Given the description of an element on the screen output the (x, y) to click on. 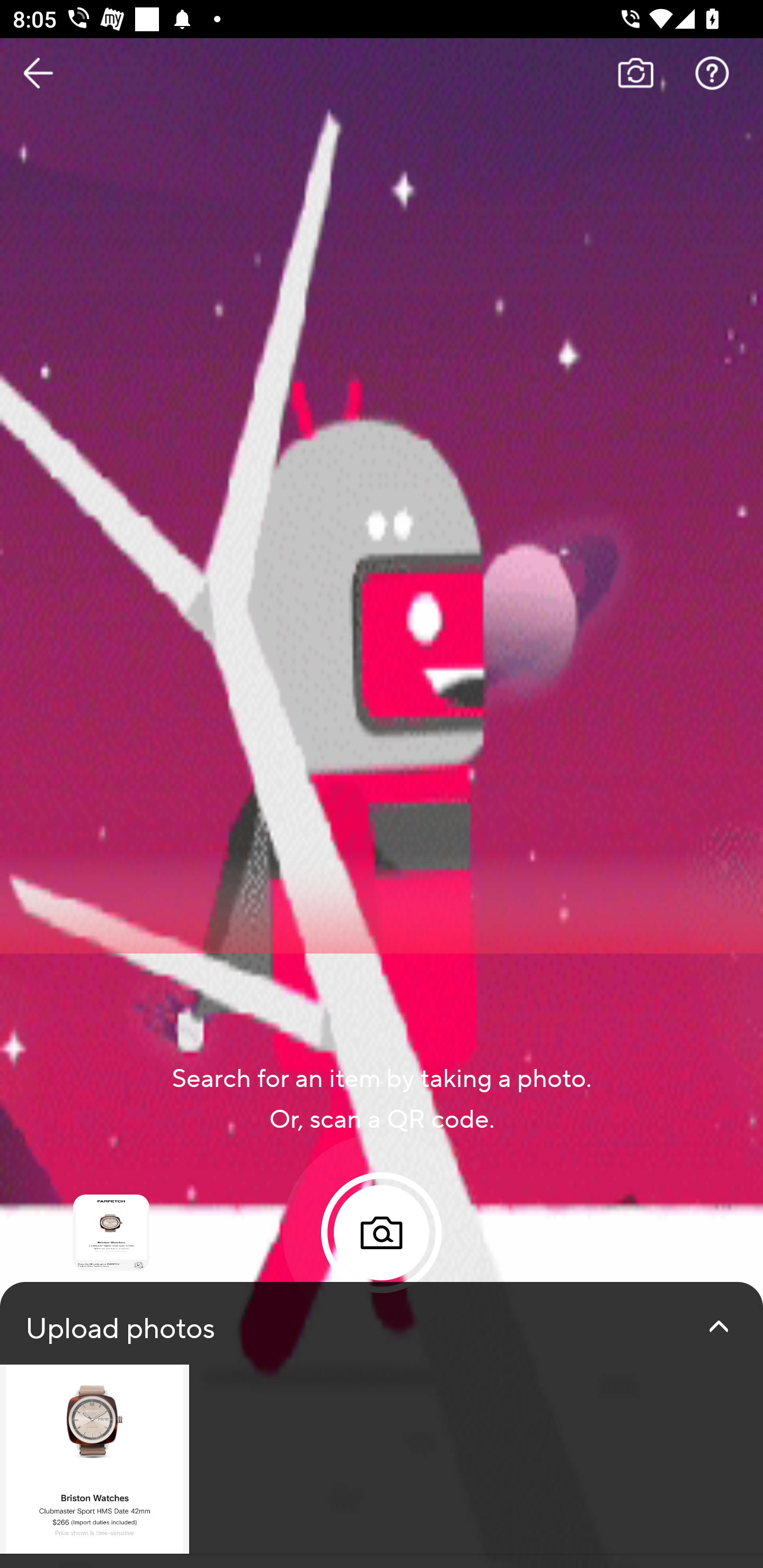
 (381, 1233)
 (718, 1326)
